Given the description of an element on the screen output the (x, y) to click on. 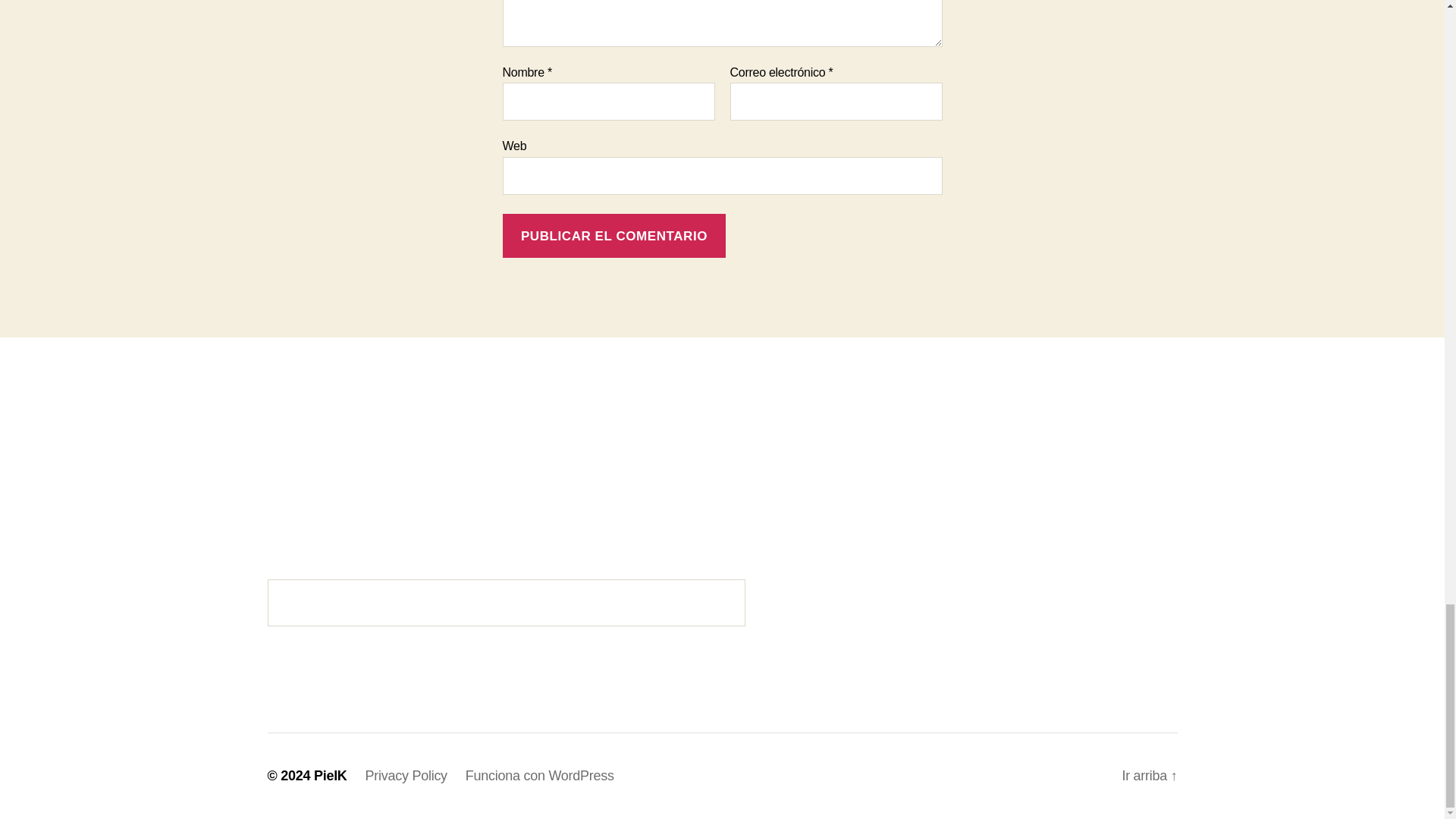
Publicar el comentario (613, 235)
Publicar el comentario (613, 235)
